Given the description of an element on the screen output the (x, y) to click on. 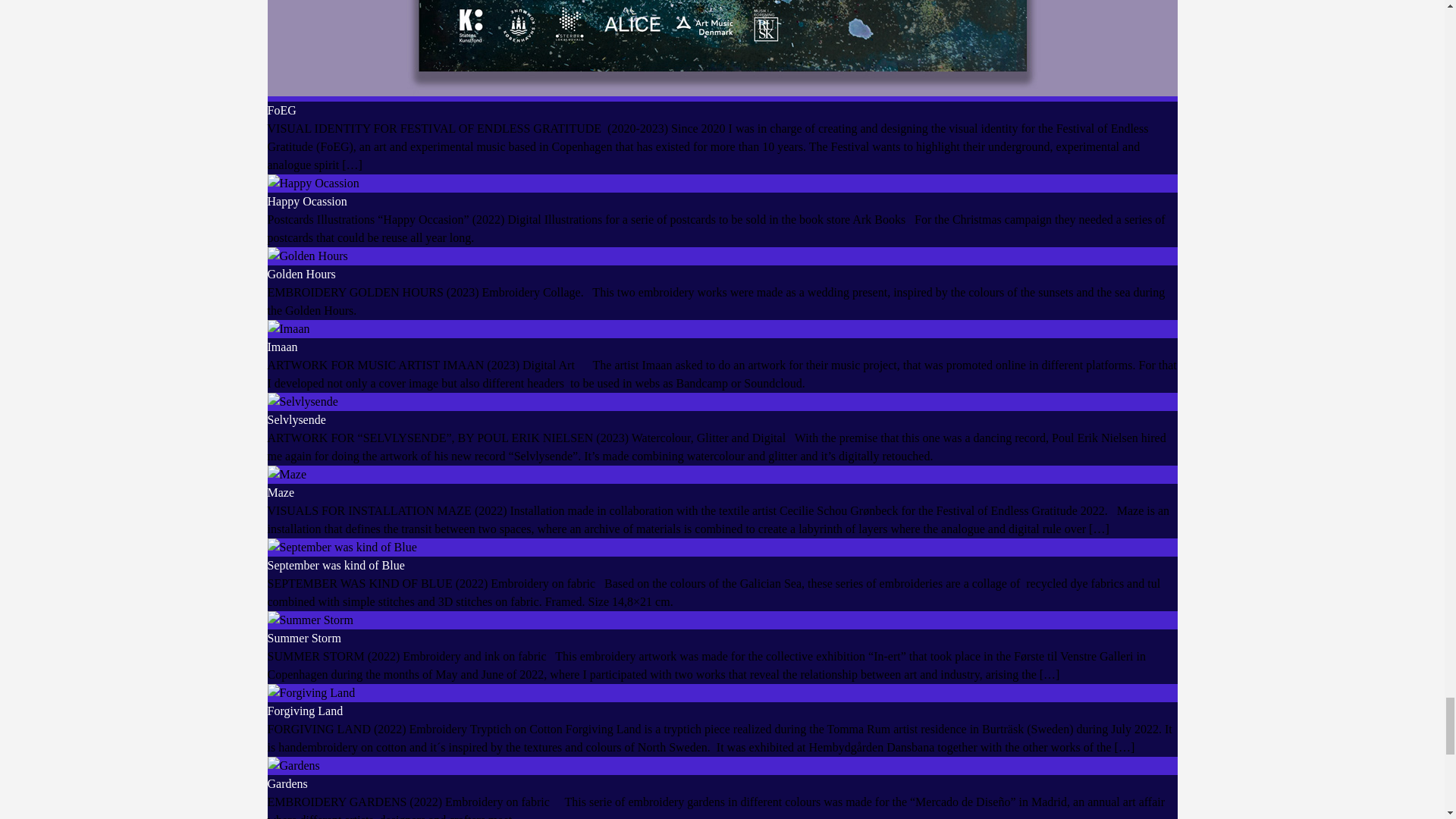
Golden Hours (300, 273)
Gardens (286, 783)
Happy Ocassion (306, 201)
FoEG (280, 110)
September was kind of Blue (335, 564)
Maze (280, 492)
Imaan (281, 346)
Happy Ocassion (306, 201)
Golden Hours (300, 273)
Imaan (281, 346)
Summer Storm (303, 637)
Selvlysende (295, 419)
FoEG (280, 110)
Forgiving Land (304, 710)
